Given the description of an element on the screen output the (x, y) to click on. 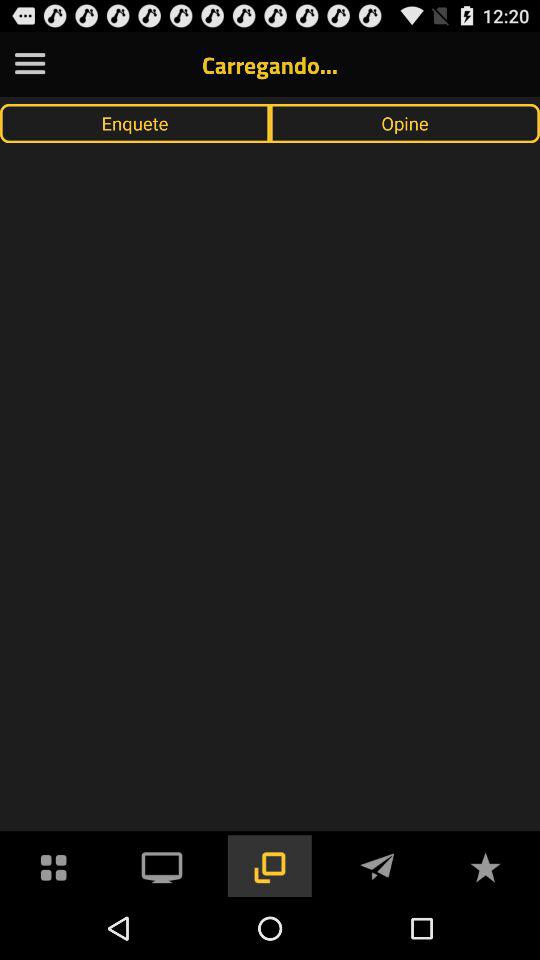
add to favorites (485, 865)
